Given the description of an element on the screen output the (x, y) to click on. 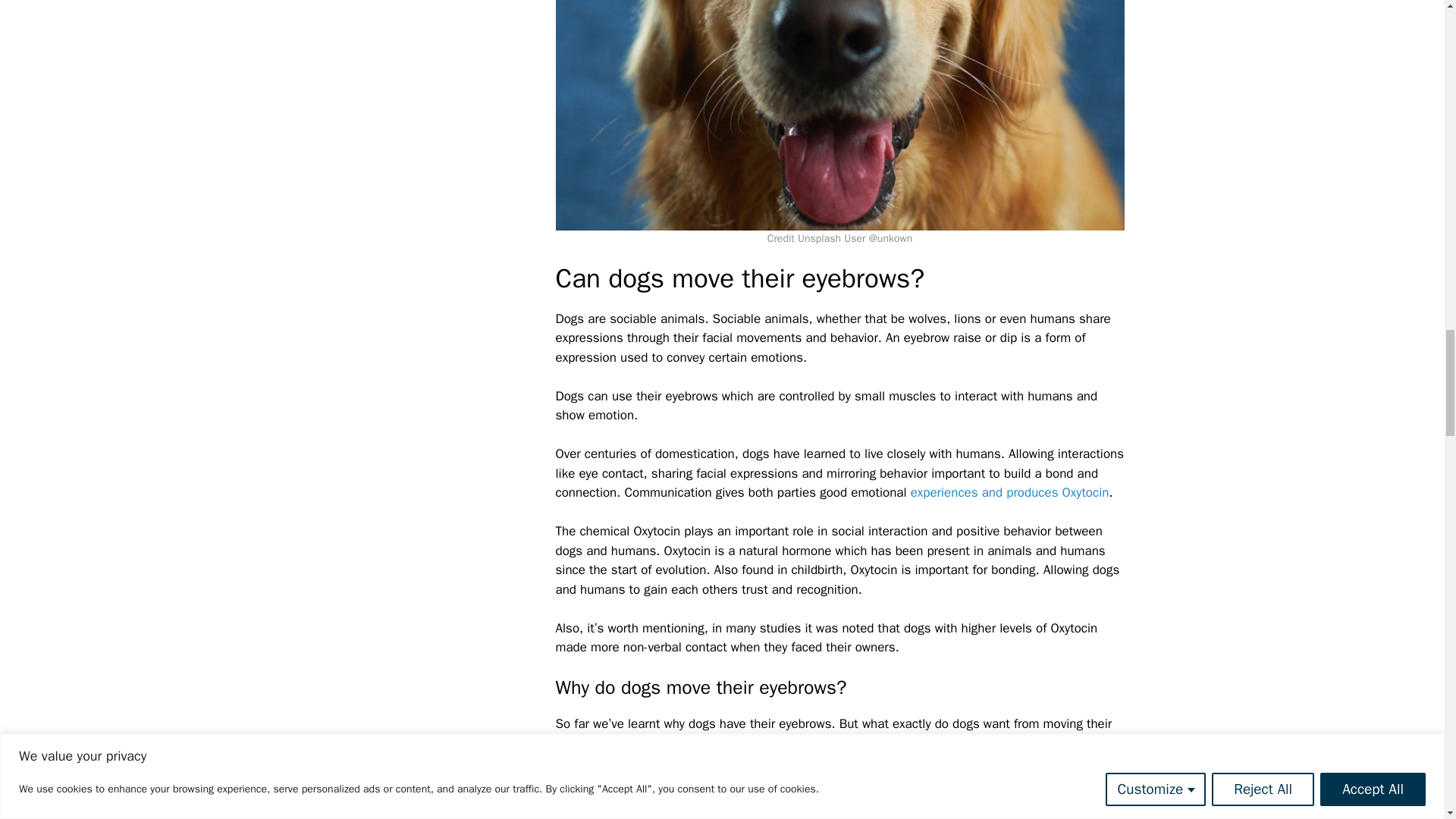
experiences and produces Oxytocin (1010, 492)
Do Dogs Have Eyebrows Lab (839, 115)
